Given the description of an element on the screen output the (x, y) to click on. 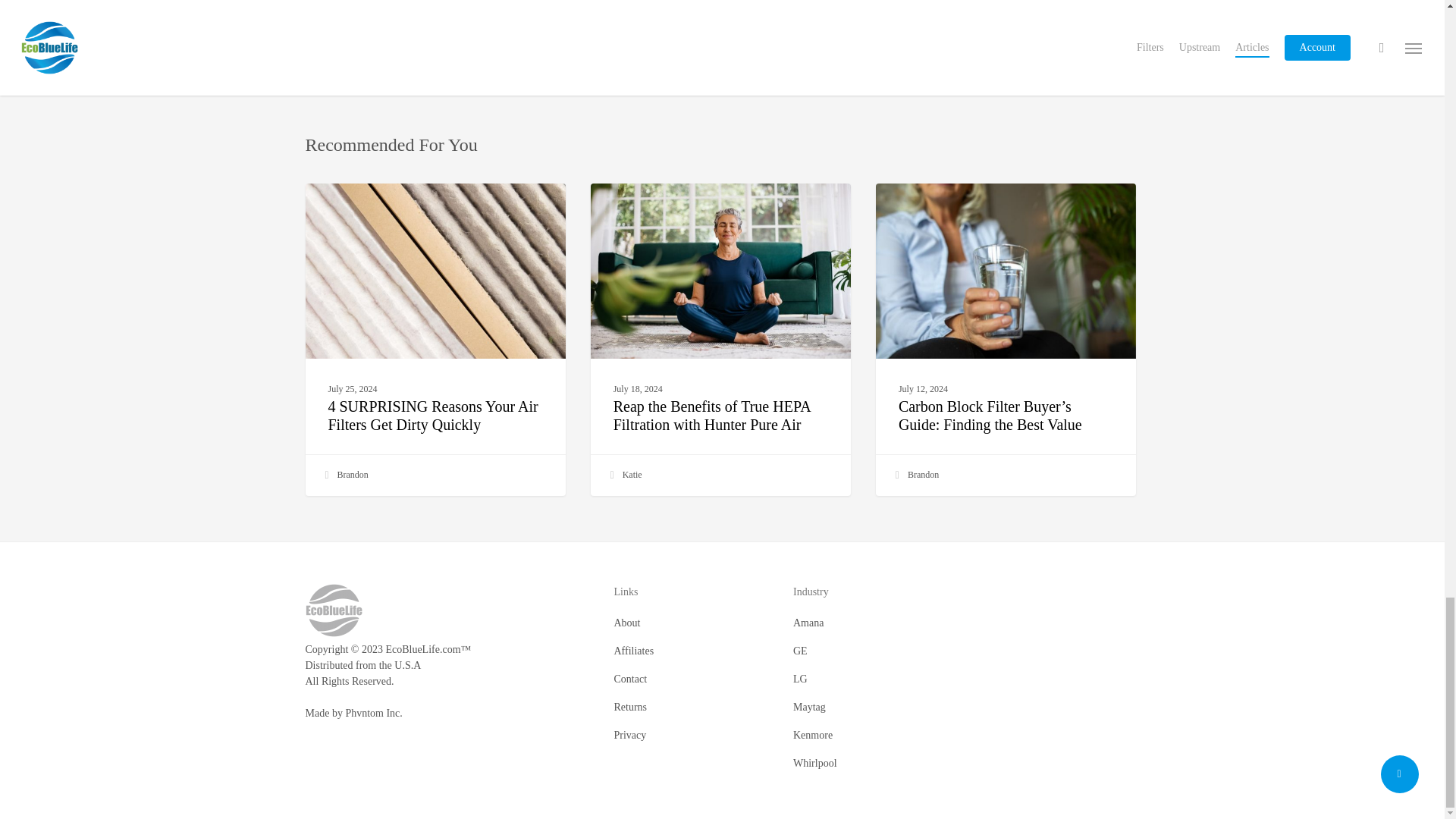
Brandon (344, 475)
